Given the description of an element on the screen output the (x, y) to click on. 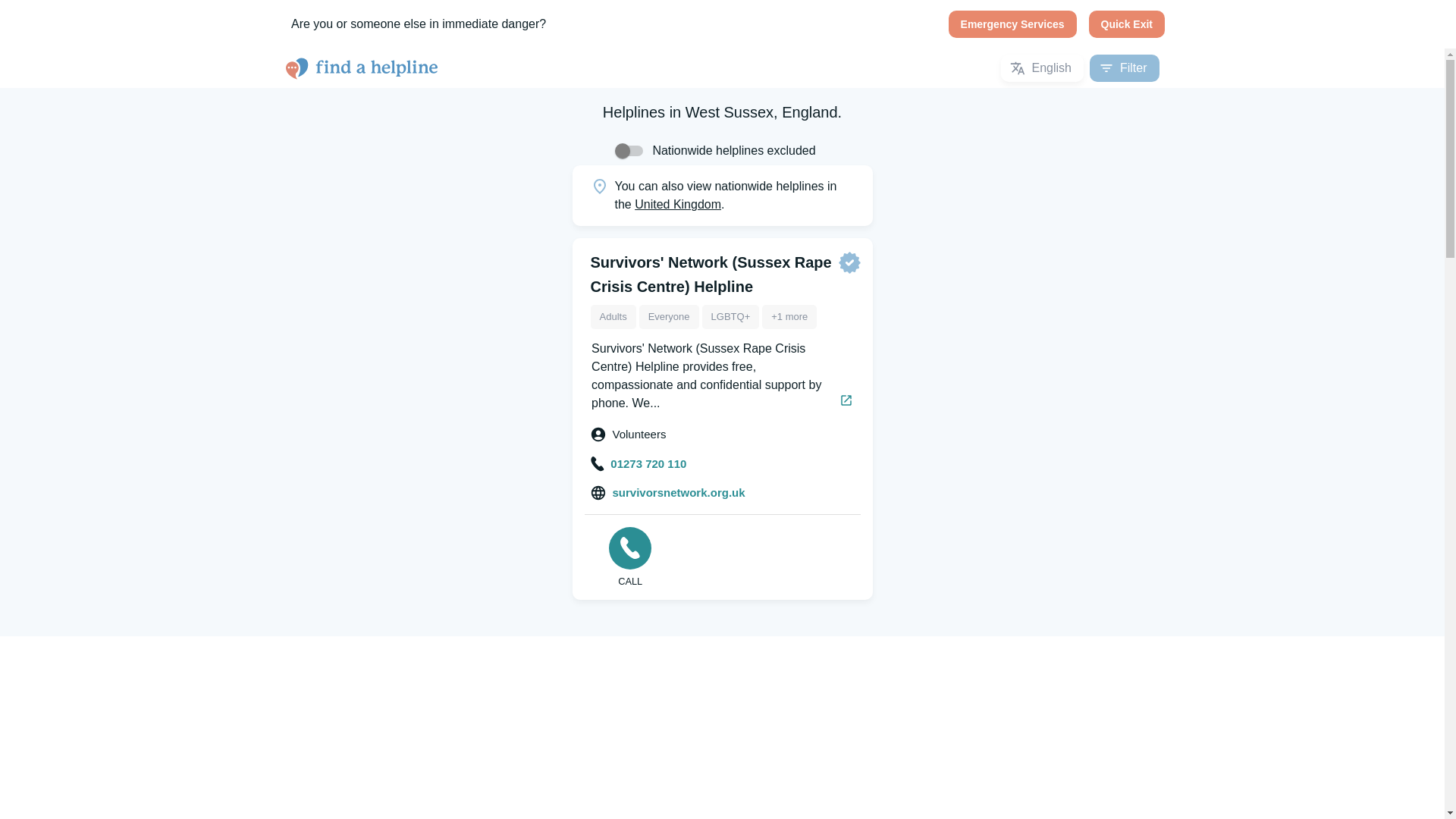
Filter (1123, 67)
United Kingdom (677, 204)
Quick Exit (1126, 24)
English (1042, 67)
Emergency Services (1013, 24)
survivorsnetwork.org.uk (667, 492)
Volunteers (628, 434)
01273 720 110 (638, 463)
